Given the description of an element on the screen output the (x, y) to click on. 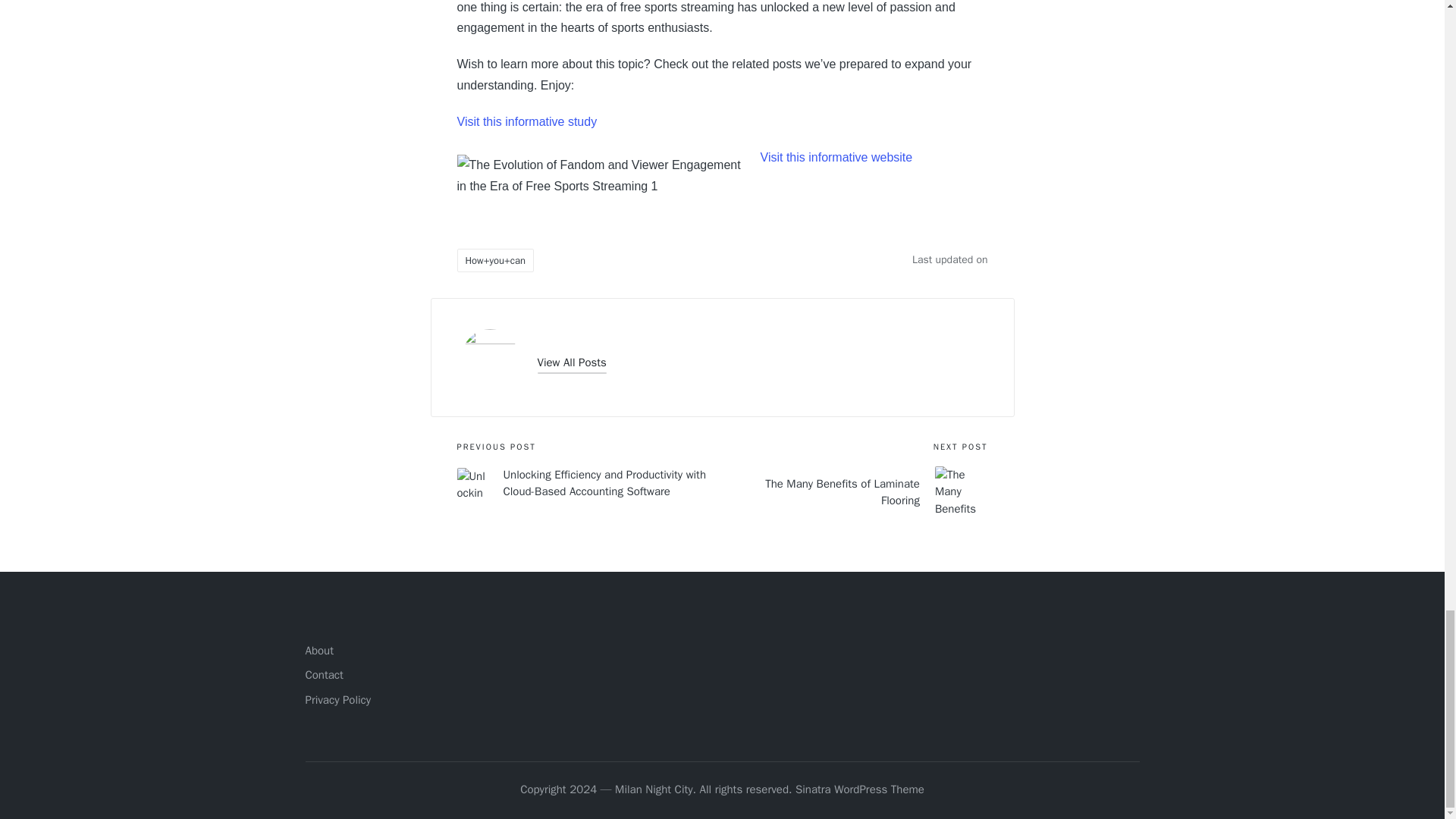
Visit this informative study (526, 121)
Contact (323, 674)
Privacy Policy (337, 699)
Visit this informative website (836, 156)
About (318, 650)
Sinatra WordPress Theme (859, 790)
View All Posts (571, 362)
The Many Benefits of Laminate Flooring (854, 492)
